Given the description of an element on the screen output the (x, y) to click on. 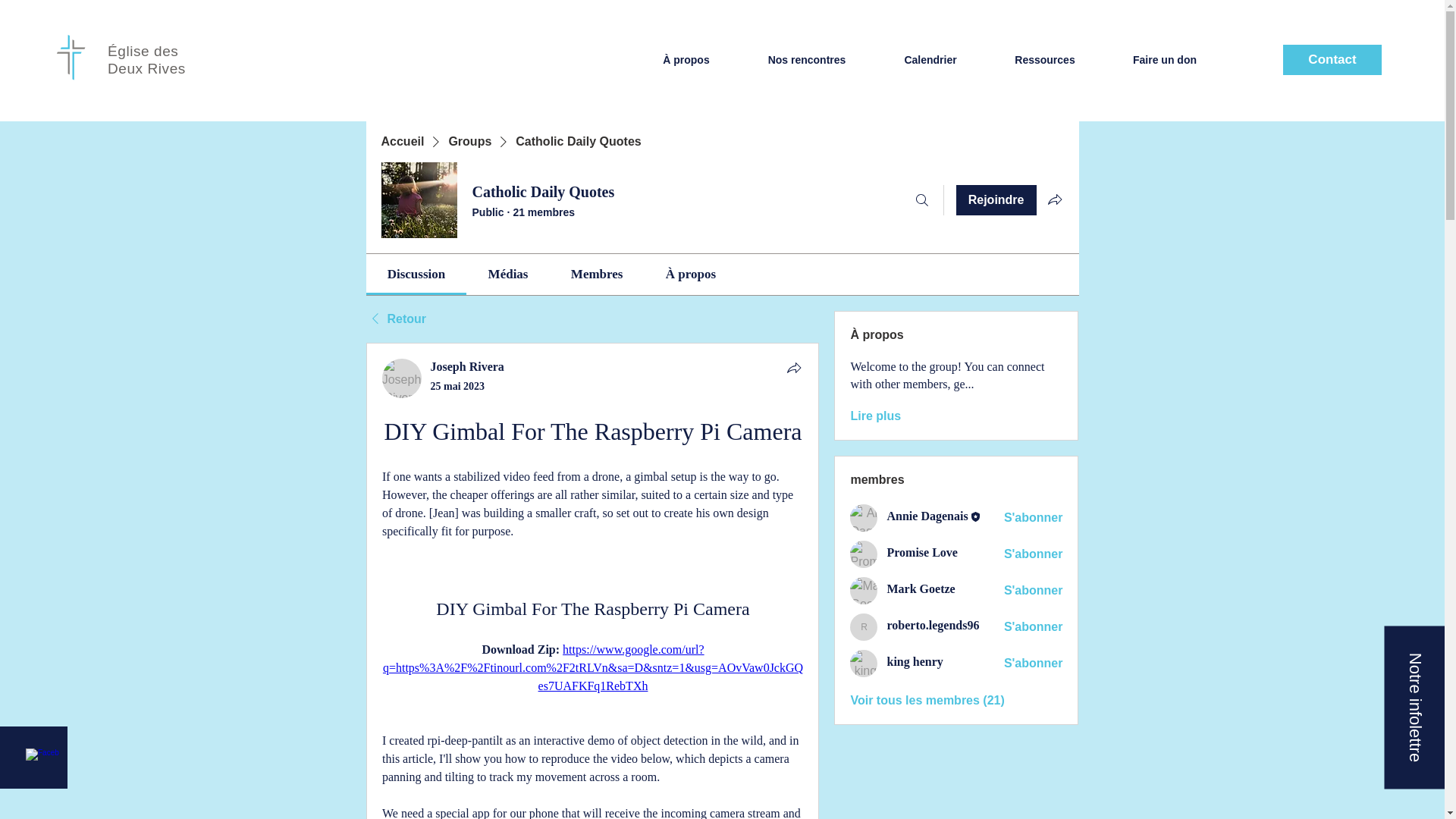
king henry (863, 663)
Joseph Rivera (466, 366)
Promise Love (863, 554)
S'abonner (1033, 663)
Accueil (401, 141)
Joseph Rivera (401, 378)
Ressources (1044, 59)
roberto.legends96 (932, 625)
Promise Love (921, 552)
Annie Dagenais (863, 517)
king henry (914, 661)
S'abonner (1033, 554)
Annie Dagenais (927, 515)
25 mai 2023 (457, 386)
Retour (395, 319)
